Given the description of an element on the screen output the (x, y) to click on. 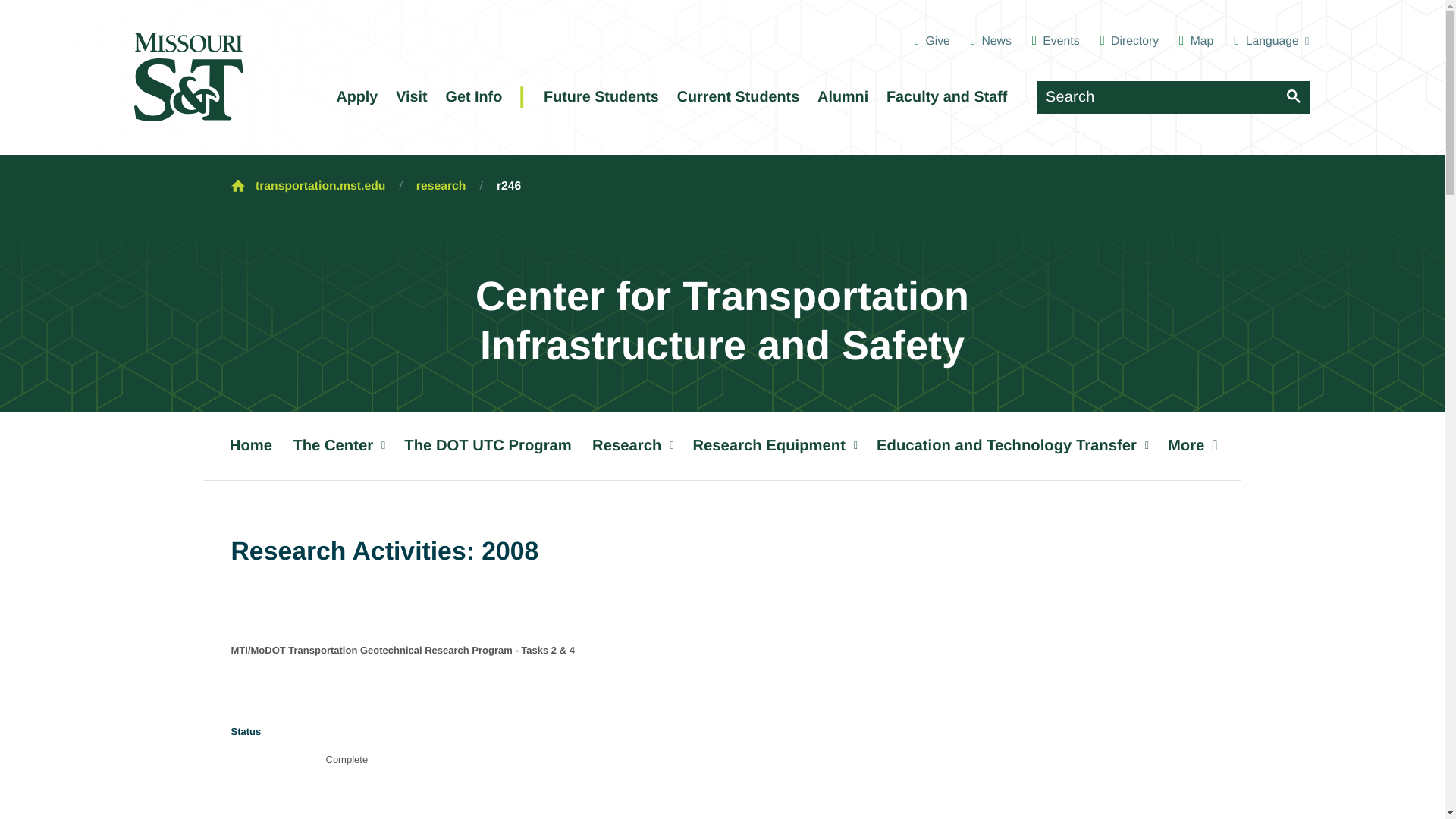
Apply (356, 97)
Alumni (841, 97)
Center for Transportation Infrastructure and Safety (721, 321)
Events (1056, 41)
Give (932, 41)
research (440, 186)
Visit (411, 97)
transportation.mst.edu (320, 186)
News (991, 41)
Faculty and Staff (946, 97)
Future Students (601, 97)
Map (1195, 41)
Get Info (473, 96)
Current Students (738, 97)
Directory (1128, 41)
